Given the description of an element on the screen output the (x, y) to click on. 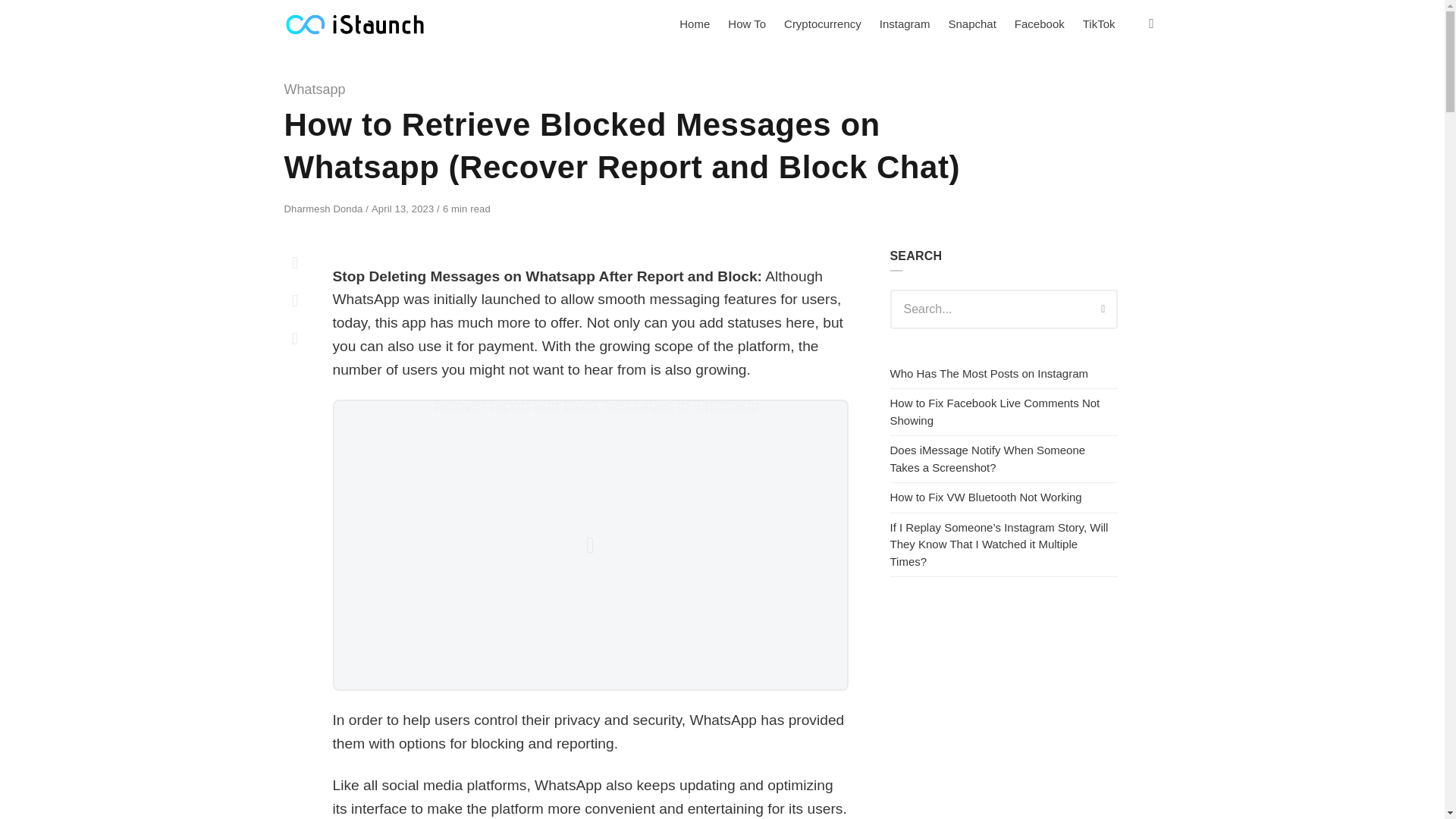
How To (746, 24)
April 13, 2023 (403, 208)
Does iMessage Notify When Someone Takes a Screenshot? (987, 458)
Snapchat (971, 24)
How to Fix Facebook Live Comments Not Showing (994, 411)
Who Has The Most Posts on Instagram (989, 373)
Cryptocurrency (822, 24)
Home (694, 24)
How to Fix VW Bluetooth Not Working (985, 496)
Instagram (904, 24)
